Given the description of an element on the screen output the (x, y) to click on. 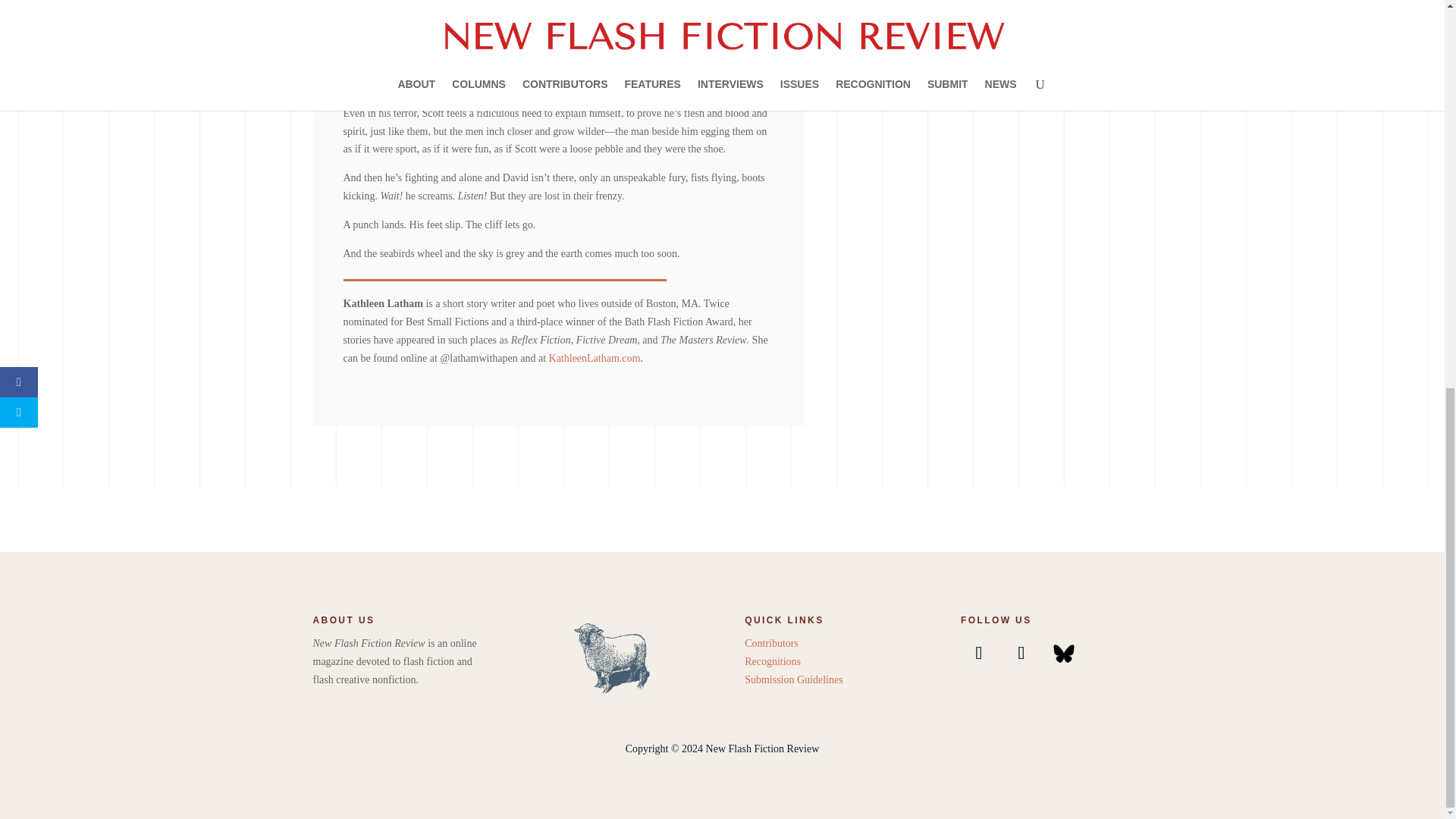
Pexels.com (975, 0)
Follow on Facebook (978, 652)
Submission Guidelines (793, 679)
KathleenLatham.com (594, 357)
Follow on X (1021, 652)
Follow on RSS (1063, 652)
55 (615, 656)
Contributors (770, 643)
Recognitions (772, 661)
